Given the description of an element on the screen output the (x, y) to click on. 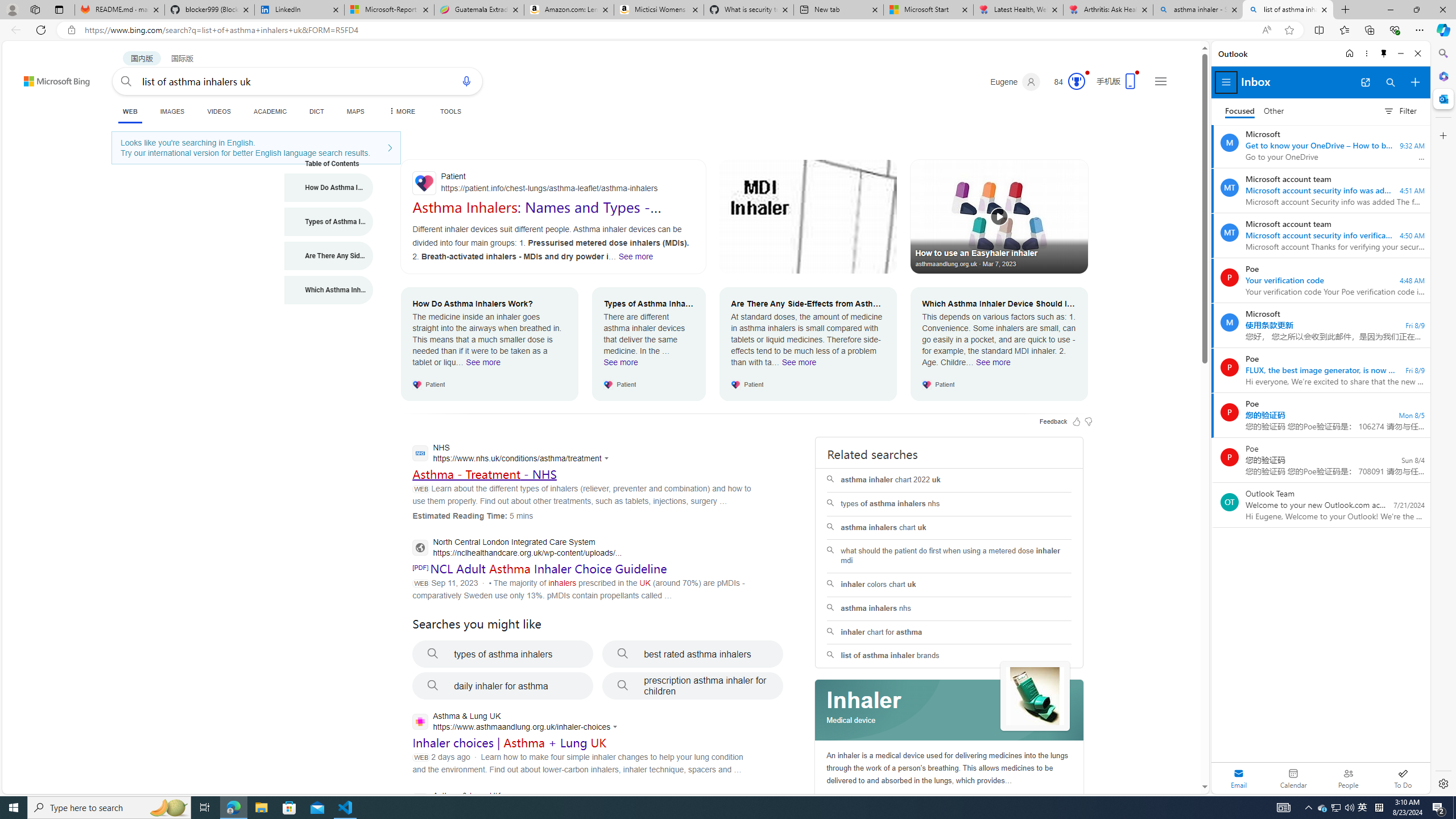
TOOLS (450, 111)
